Given the description of an element on the screen output the (x, y) to click on. 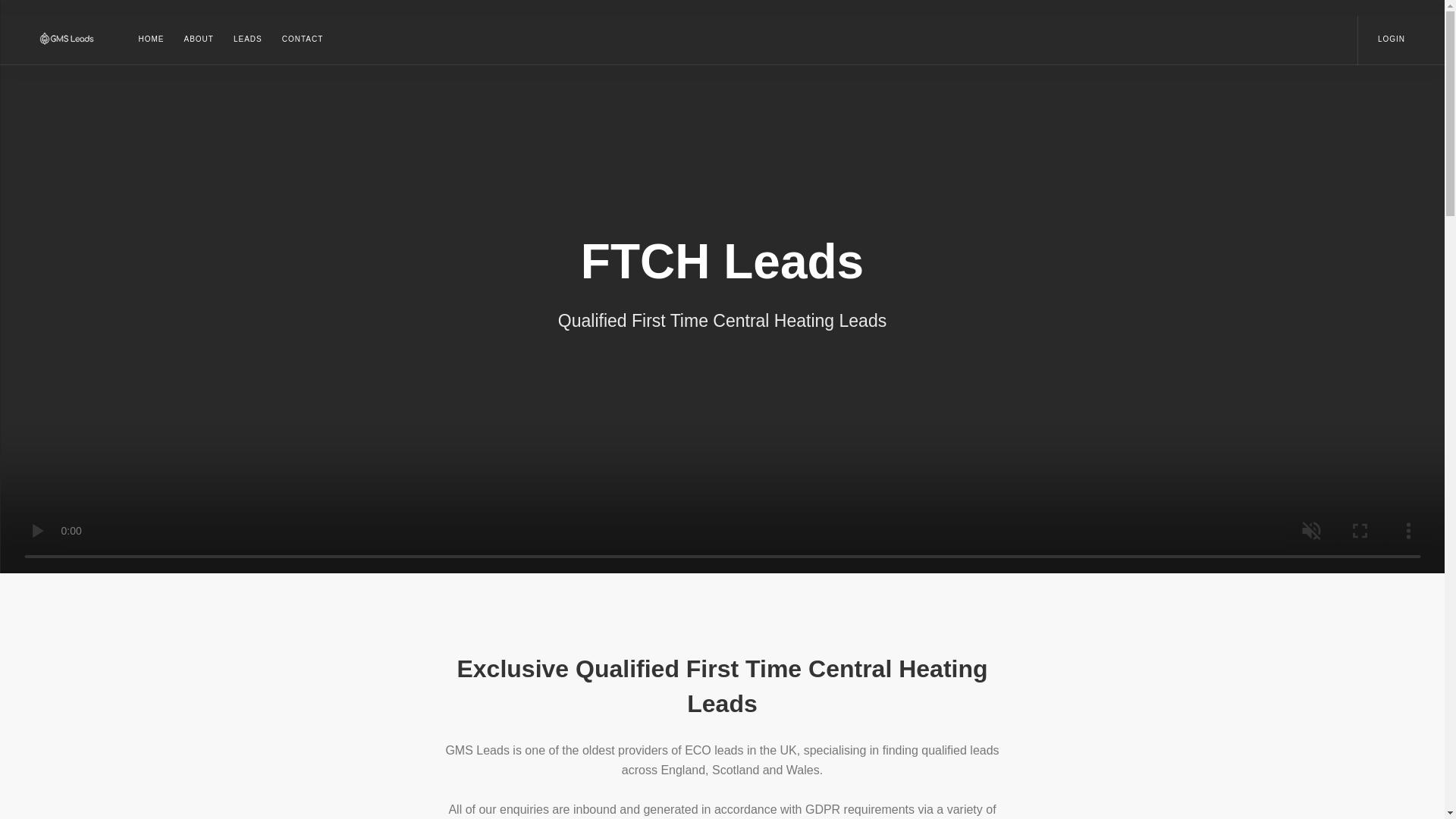
Contact GMS Leads - Inbound lead Generator (297, 39)
ABOUT (197, 39)
CONTACT (297, 39)
LEADS (248, 39)
Exclusive First Time Central Heating Leads (76, 40)
Green Homes Grant Leads (197, 39)
